Given the description of an element on the screen output the (x, y) to click on. 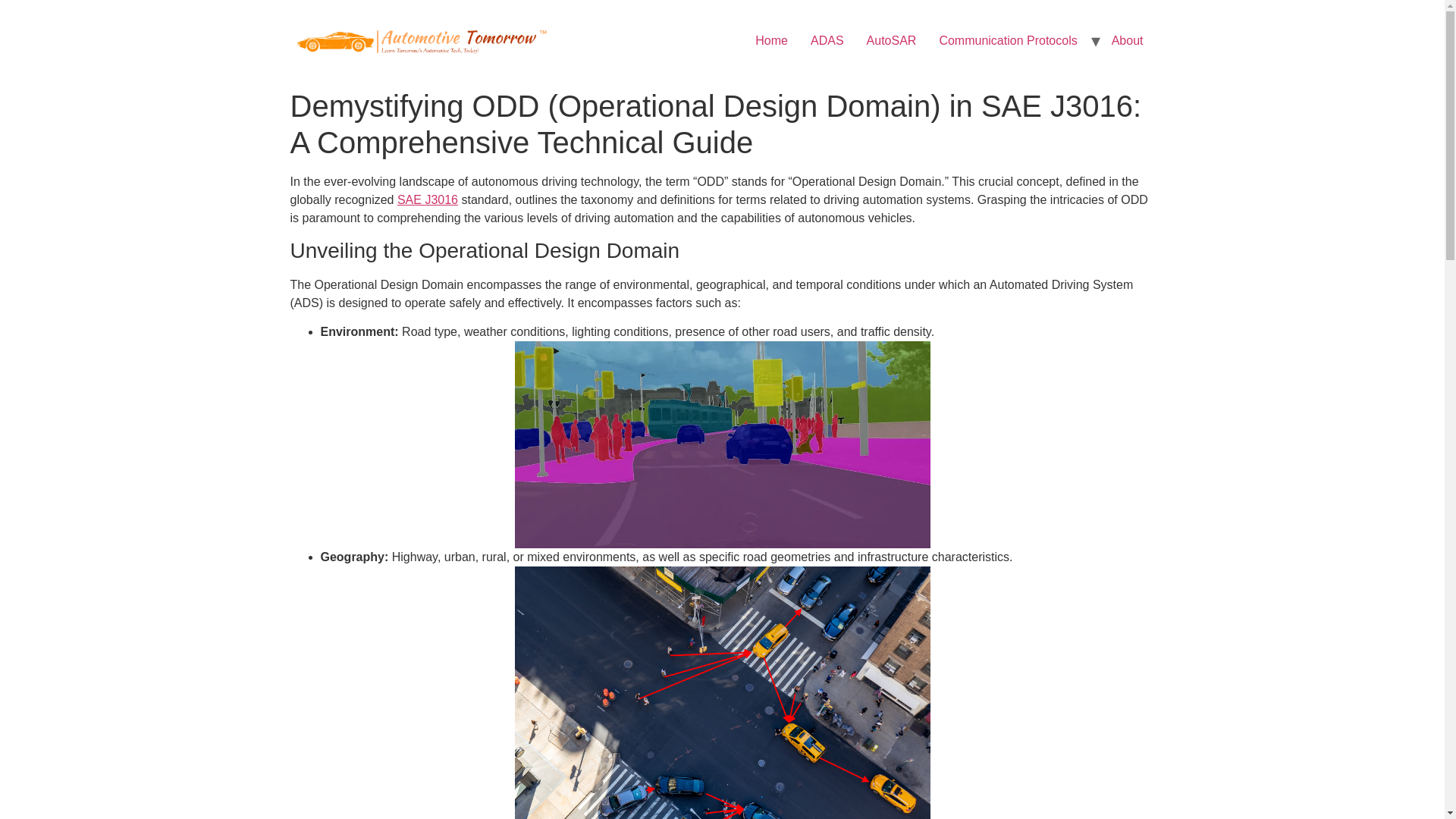
Home (771, 40)
ADAS (827, 40)
About (1127, 40)
Communication Protocols (1007, 40)
AutoSAR (892, 40)
SAE J3016 (427, 199)
